Given the description of an element on the screen output the (x, y) to click on. 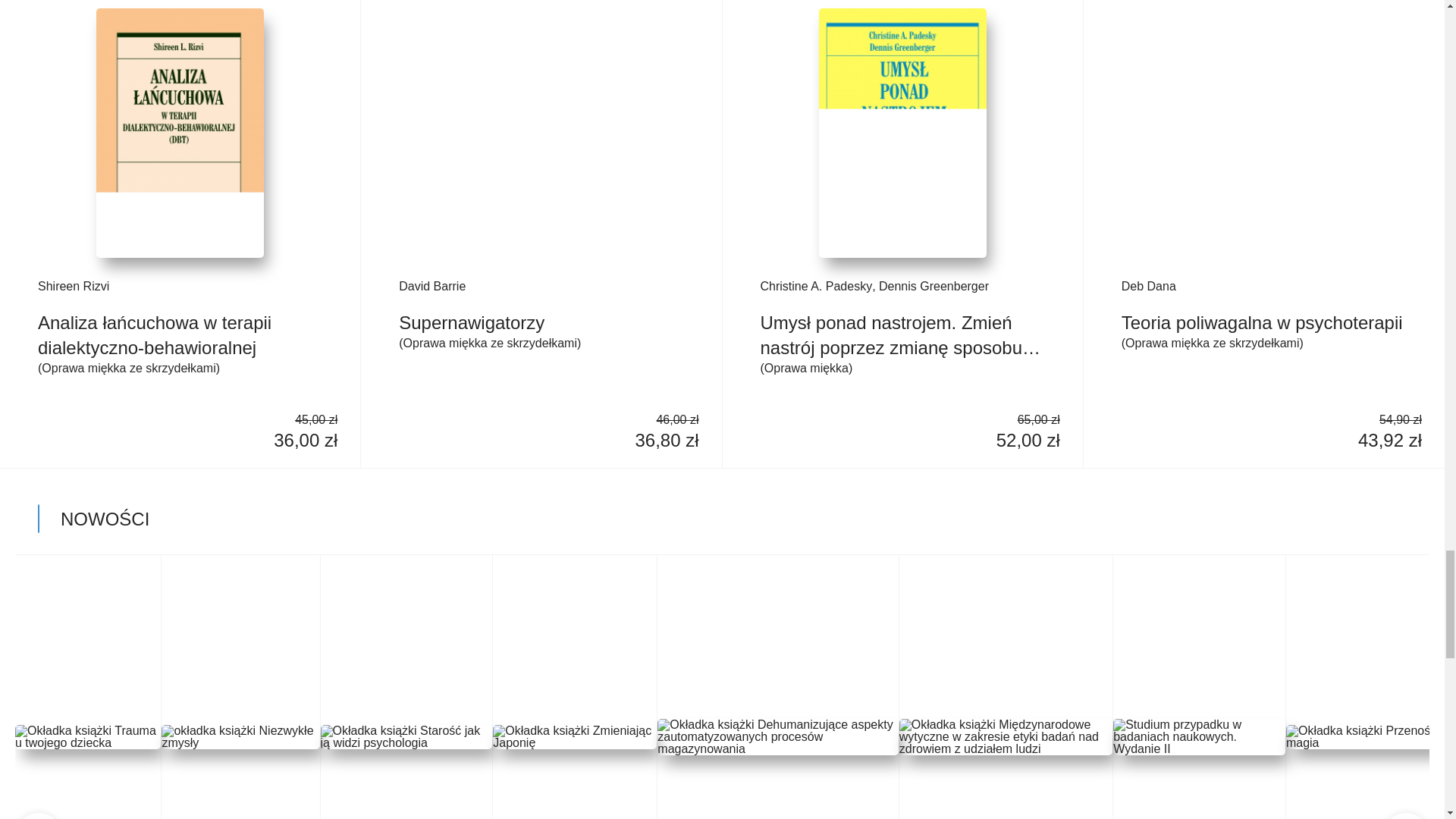
Supernawigatorzy (540, 322)
Deb Dana (1263, 286)
Christine A. Padesky, Dennis Greenberger (901, 286)
Teoria poliwagalna w psychoterapii (1263, 322)
David Barrie (540, 286)
Shireen Rizvi (179, 286)
